Given the description of an element on the screen output the (x, y) to click on. 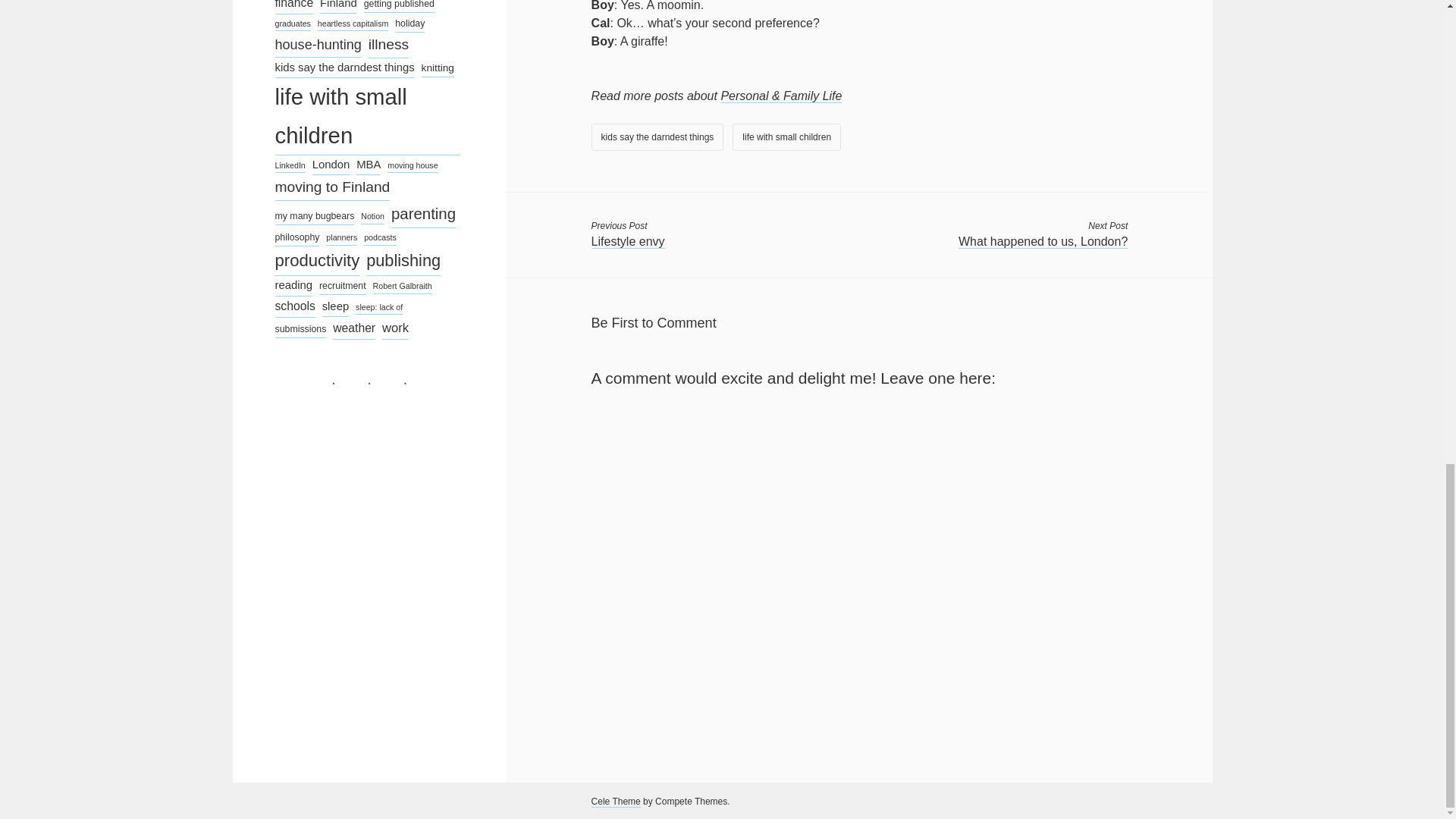
knitting (438, 67)
graduates (292, 23)
getting published (398, 6)
moving house (412, 165)
Finland (338, 6)
MBA (368, 165)
holiday (409, 23)
LinkedIn (289, 165)
house-hunting (318, 45)
life with small children (367, 116)
